Given the description of an element on the screen output the (x, y) to click on. 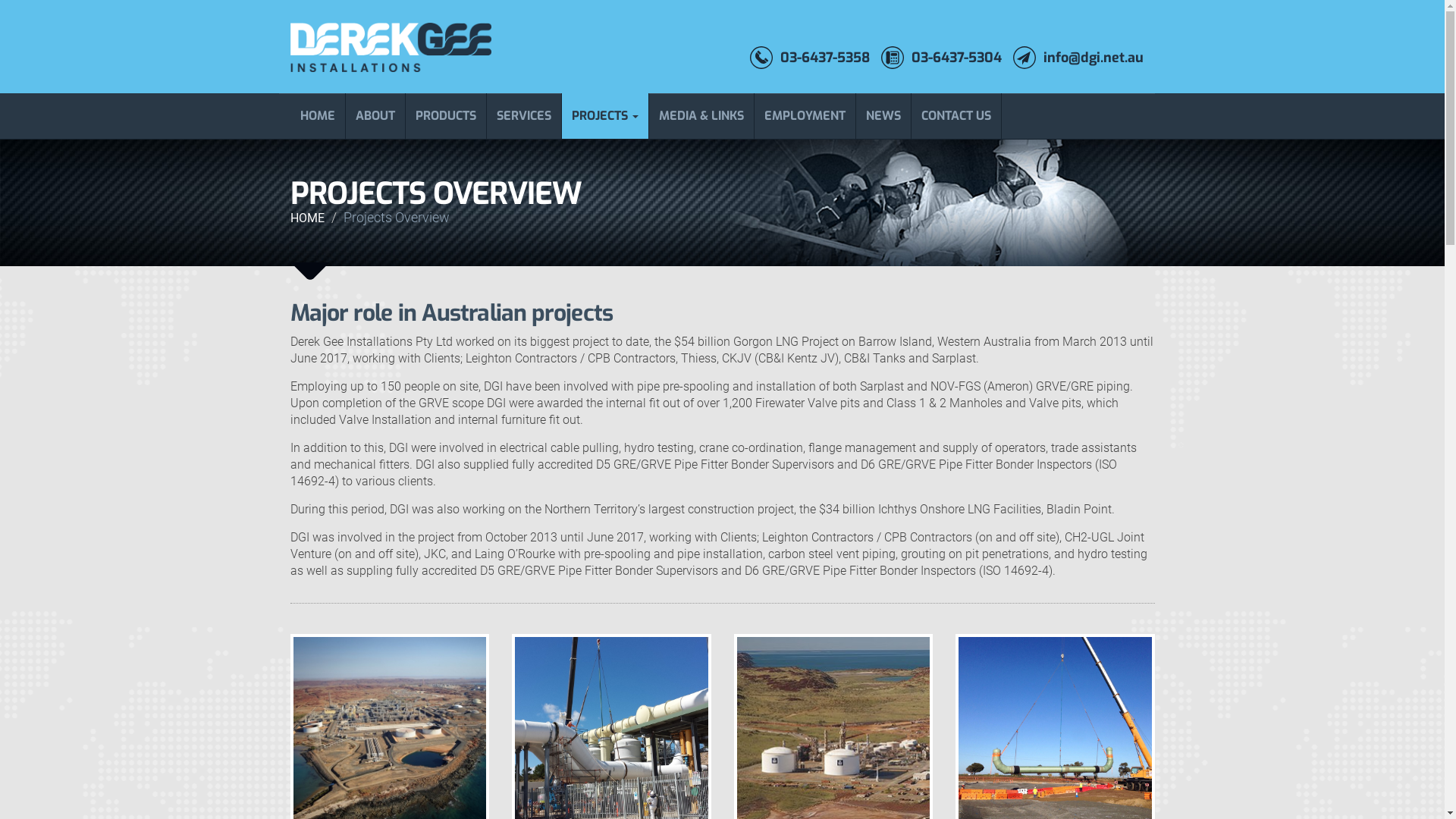
PRODUCTS Element type: text (445, 115)
HOME Element type: text (317, 115)
info@dgi.net.au Element type: text (1078, 57)
ABOUT Element type: text (375, 115)
SERVICES Element type: text (523, 115)
MEDIA & LINKS Element type: text (701, 115)
03-6437-5304 Element type: text (941, 57)
NEWS Element type: text (882, 115)
03-6437-5358 Element type: text (809, 57)
PROJECTS Element type: text (604, 115)
HOME Element type: text (306, 217)
EMPLOYMENT Element type: text (804, 115)
CONTACT US Element type: text (956, 115)
